Given the description of an element on the screen output the (x, y) to click on. 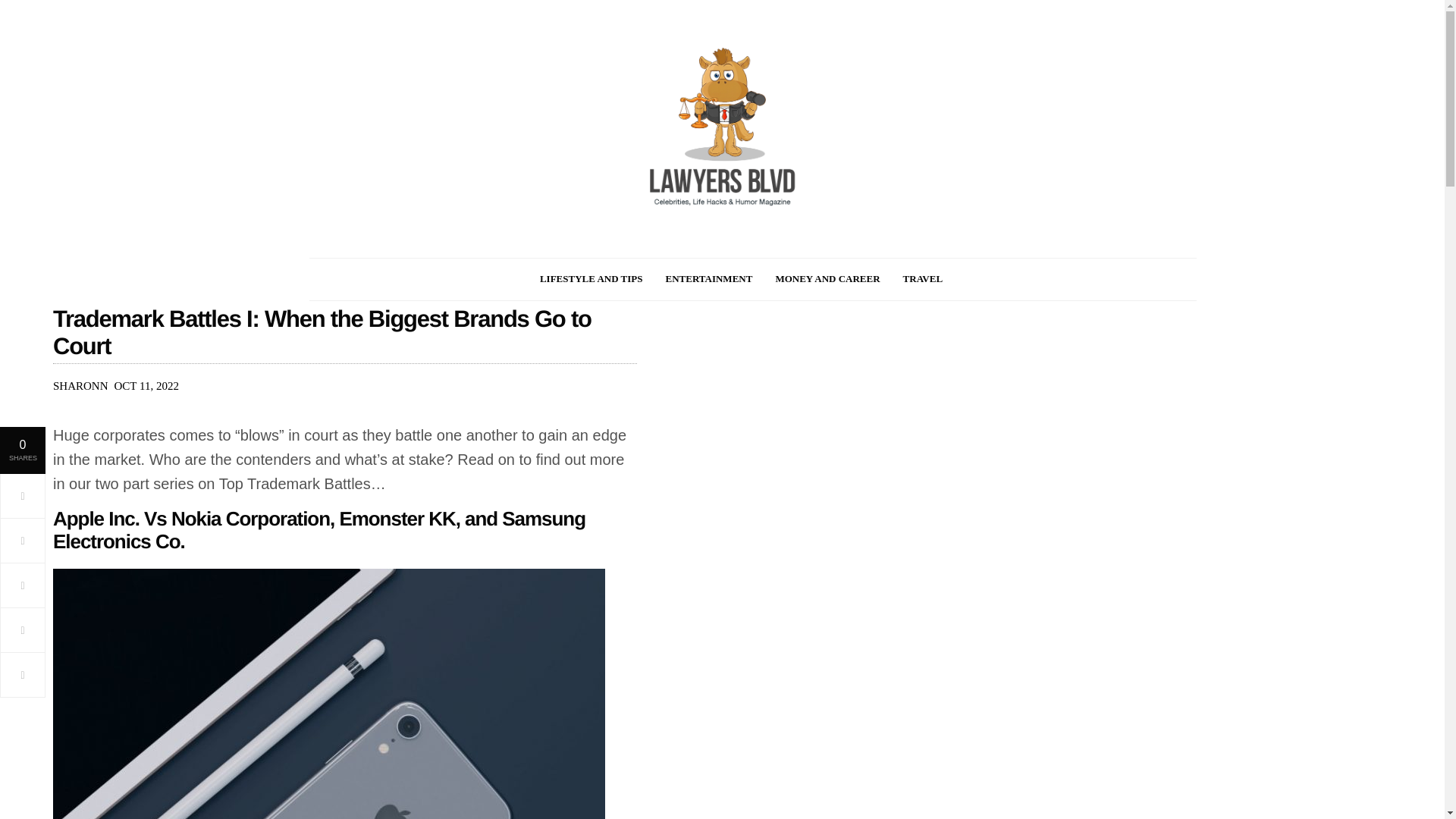
TRAVEL (922, 279)
MONEY AND CAREER (826, 279)
Posts by SharonN (79, 385)
ENTERTAINMENT (708, 279)
LIFESTYLE AND TIPS (591, 279)
SHARONN (79, 385)
